Given the description of an element on the screen output the (x, y) to click on. 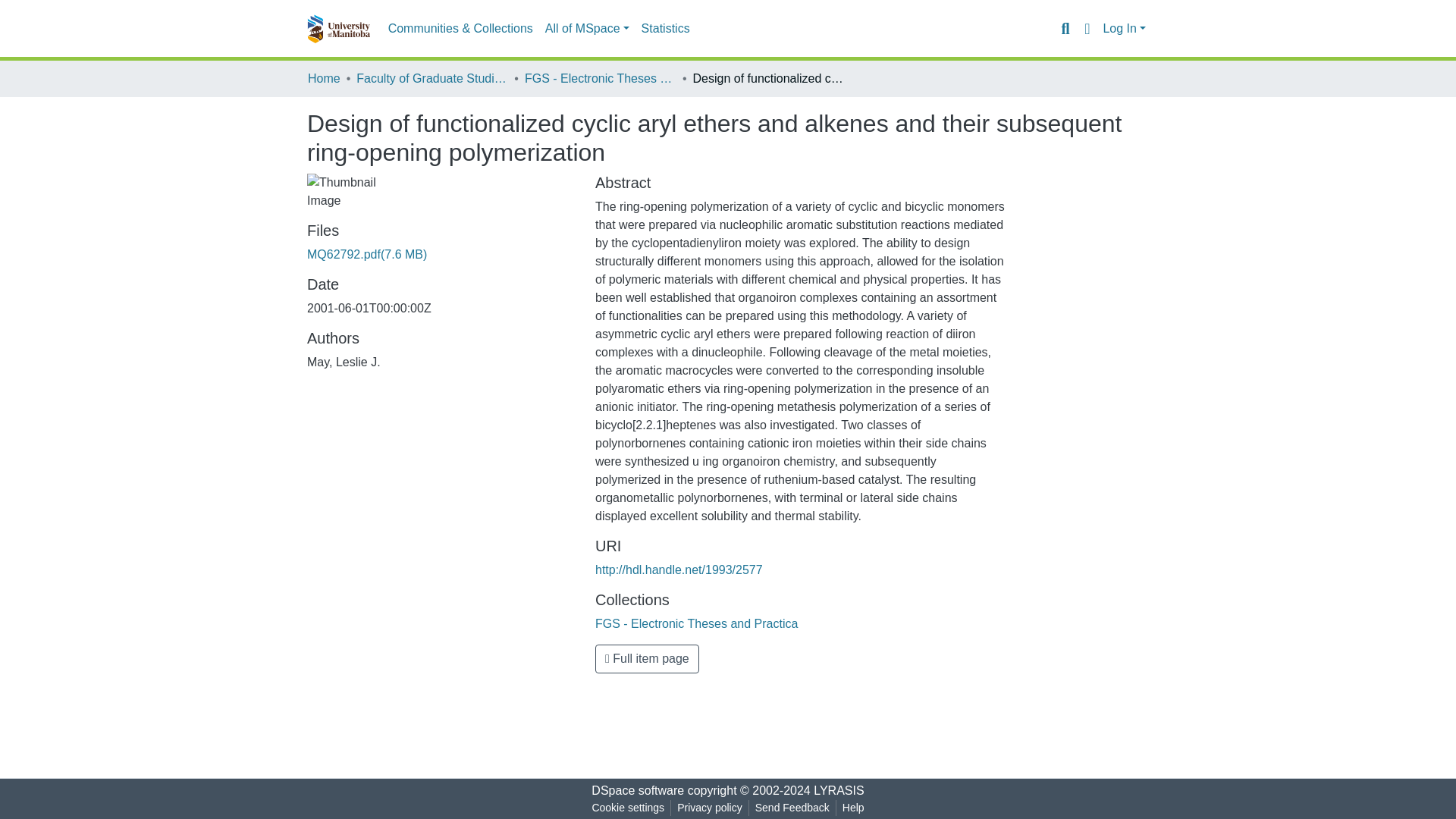
Privacy policy (709, 807)
DSpace software (637, 789)
FGS - Electronic Theses and Practica (696, 623)
Send Feedback (792, 807)
Log In (1123, 28)
Help (852, 807)
Home (323, 78)
Search (1064, 28)
LYRASIS (838, 789)
All of MSpace (586, 28)
Cookie settings (627, 807)
FGS - Electronic Theses and Practica (600, 78)
Statistics (664, 28)
Language switch (1086, 28)
Full item page (646, 658)
